Given the description of an element on the screen output the (x, y) to click on. 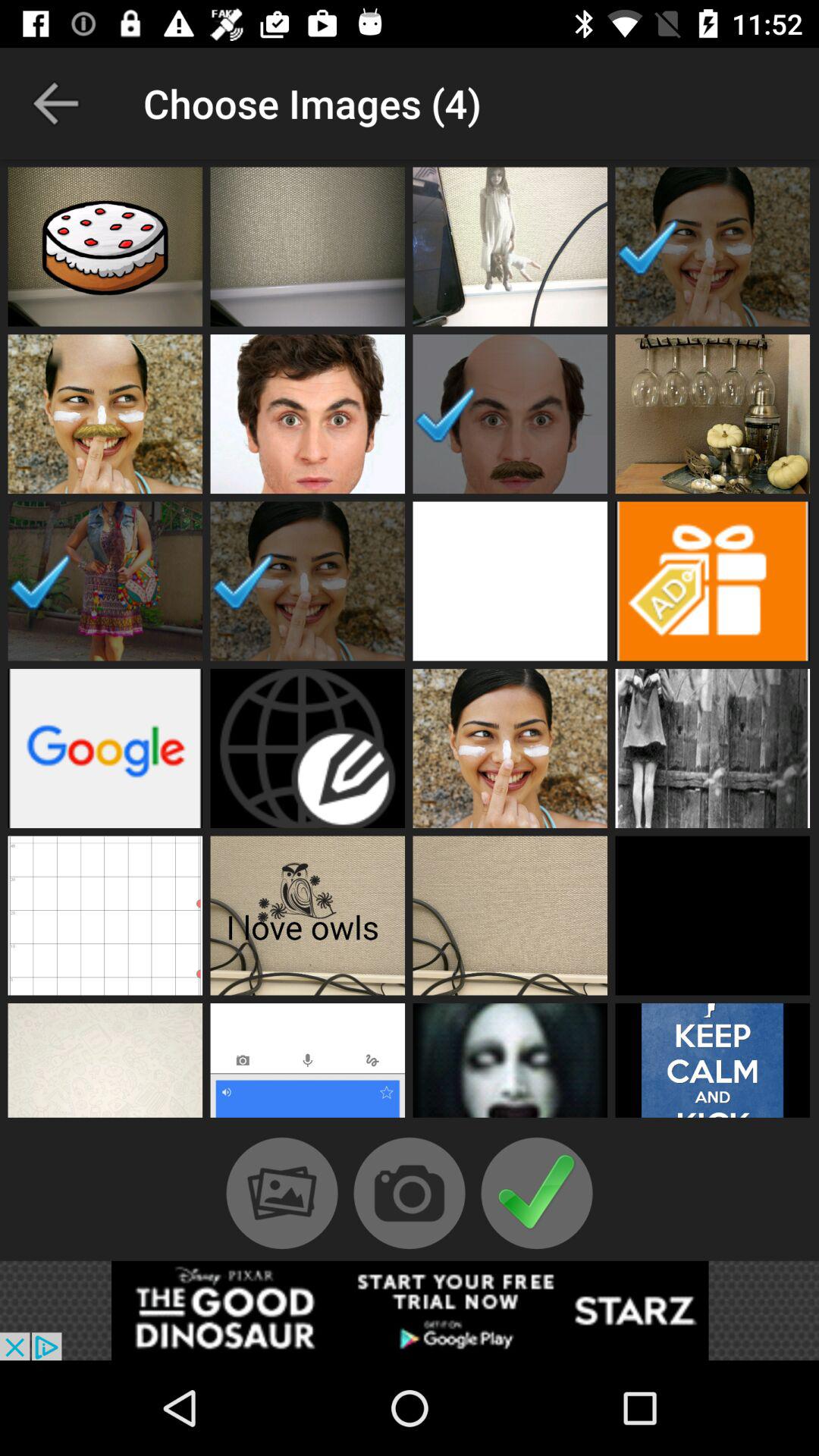
open profile (712, 915)
